Given the description of an element on the screen output the (x, y) to click on. 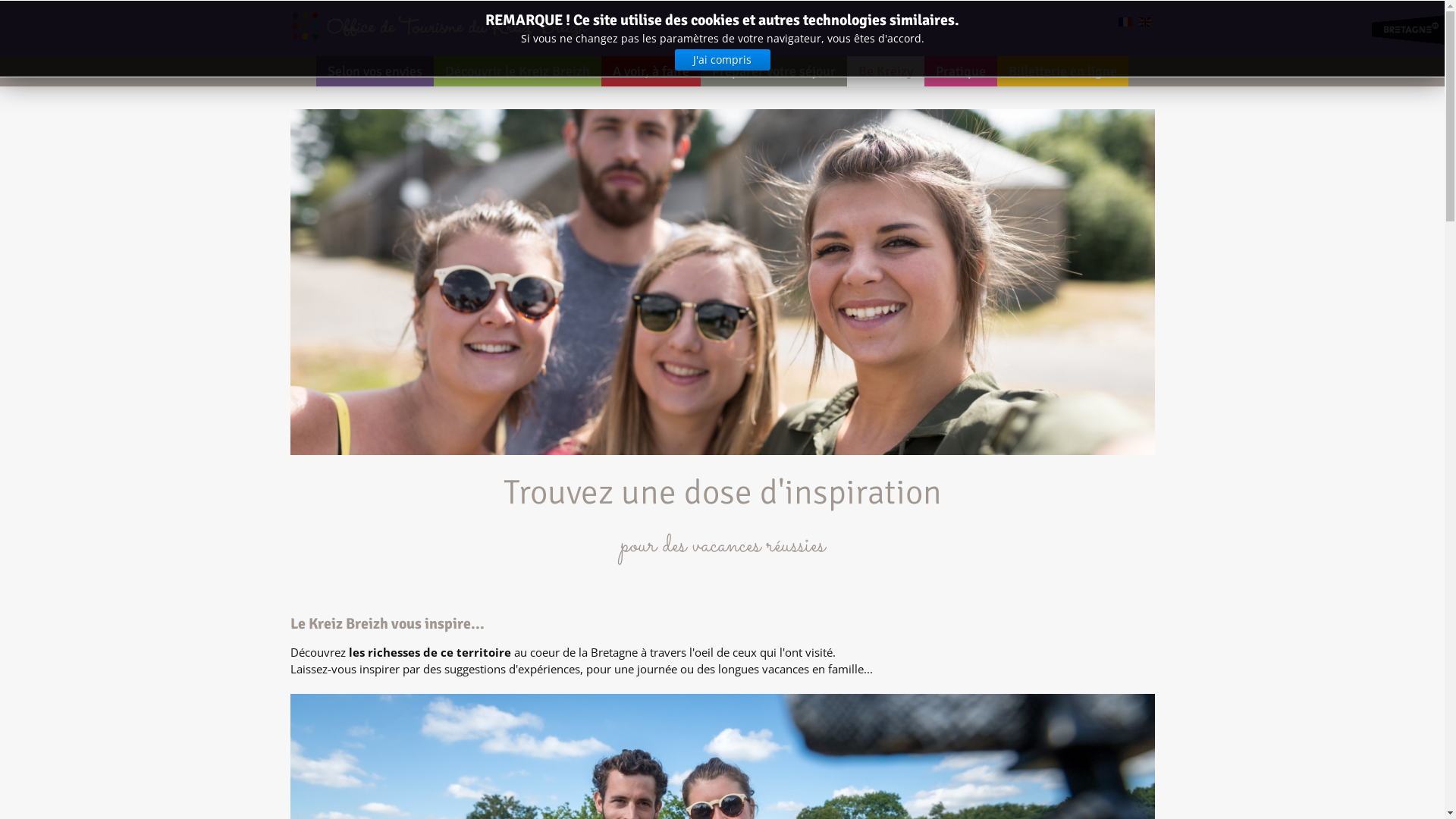
Be Kreizy Element type: text (885, 71)
English (UK) Element type: hover (1144, 21)
Pratique Element type: text (960, 71)
Billetterie en ligne Element type: text (1062, 71)
Selon vos envies Element type: text (374, 71)
